Given the description of an element on the screen output the (x, y) to click on. 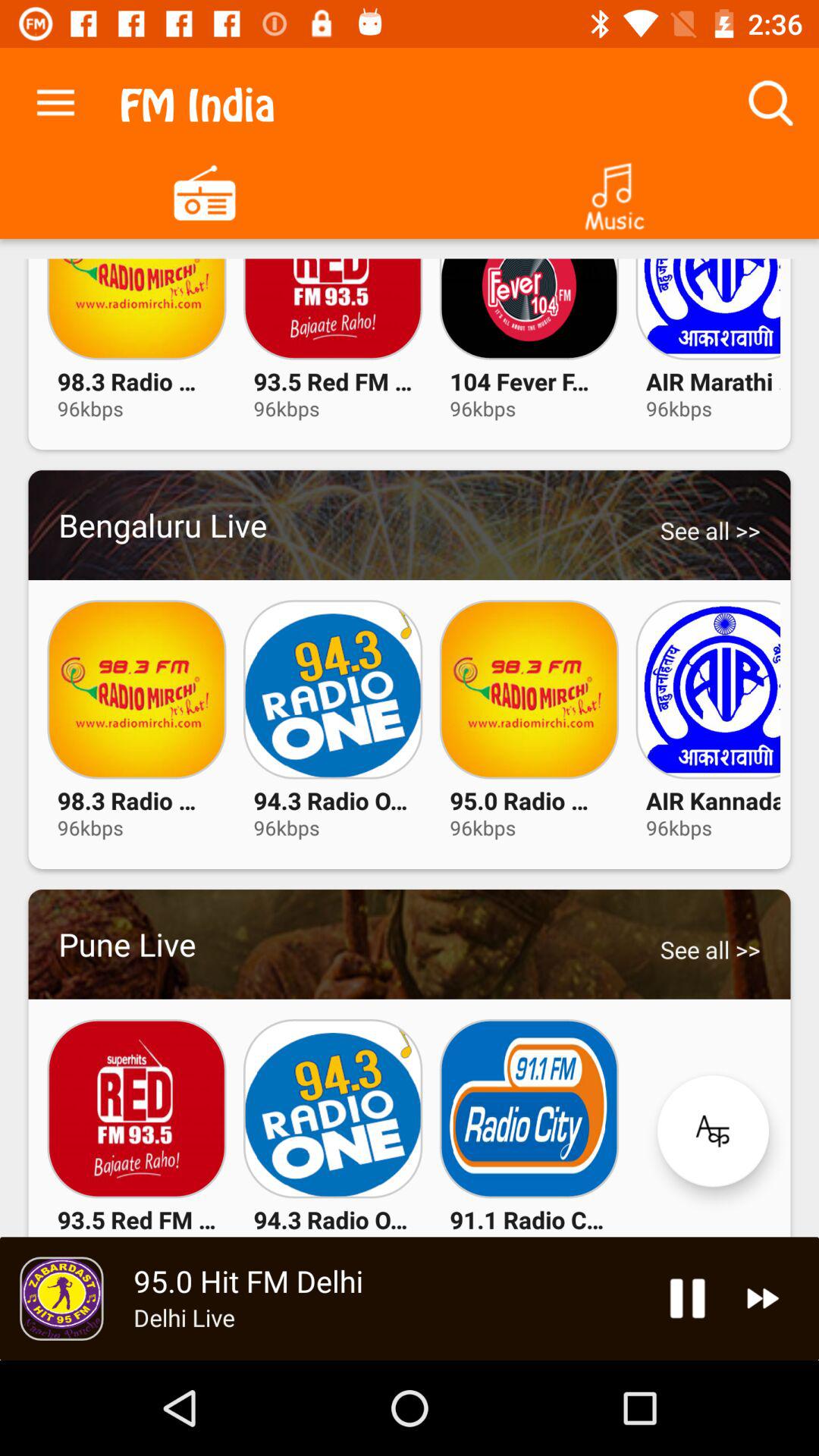
music tab (614, 190)
